Given the description of an element on the screen output the (x, y) to click on. 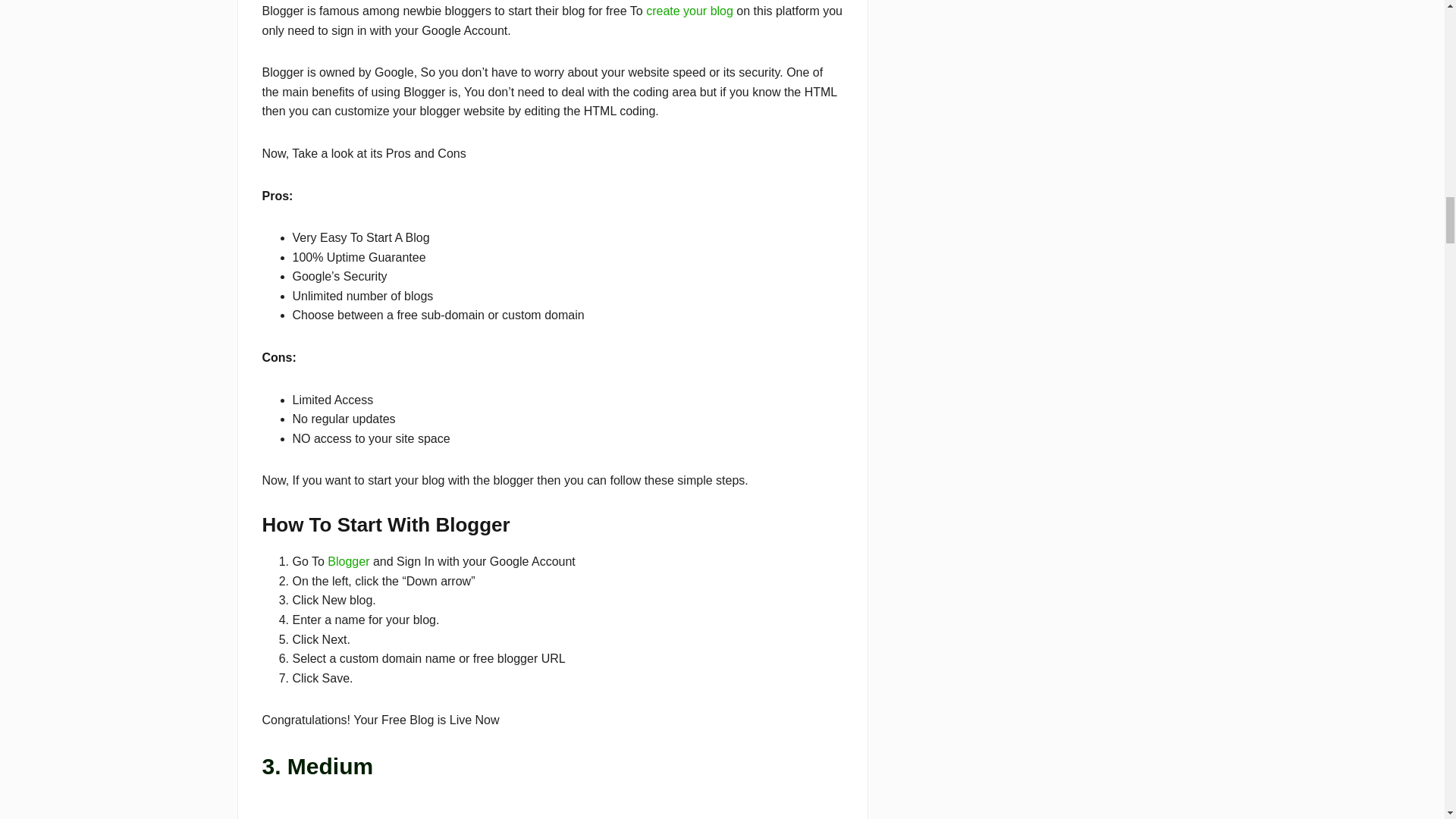
Blogger (348, 561)
create your blog (689, 10)
